Given the description of an element on the screen output the (x, y) to click on. 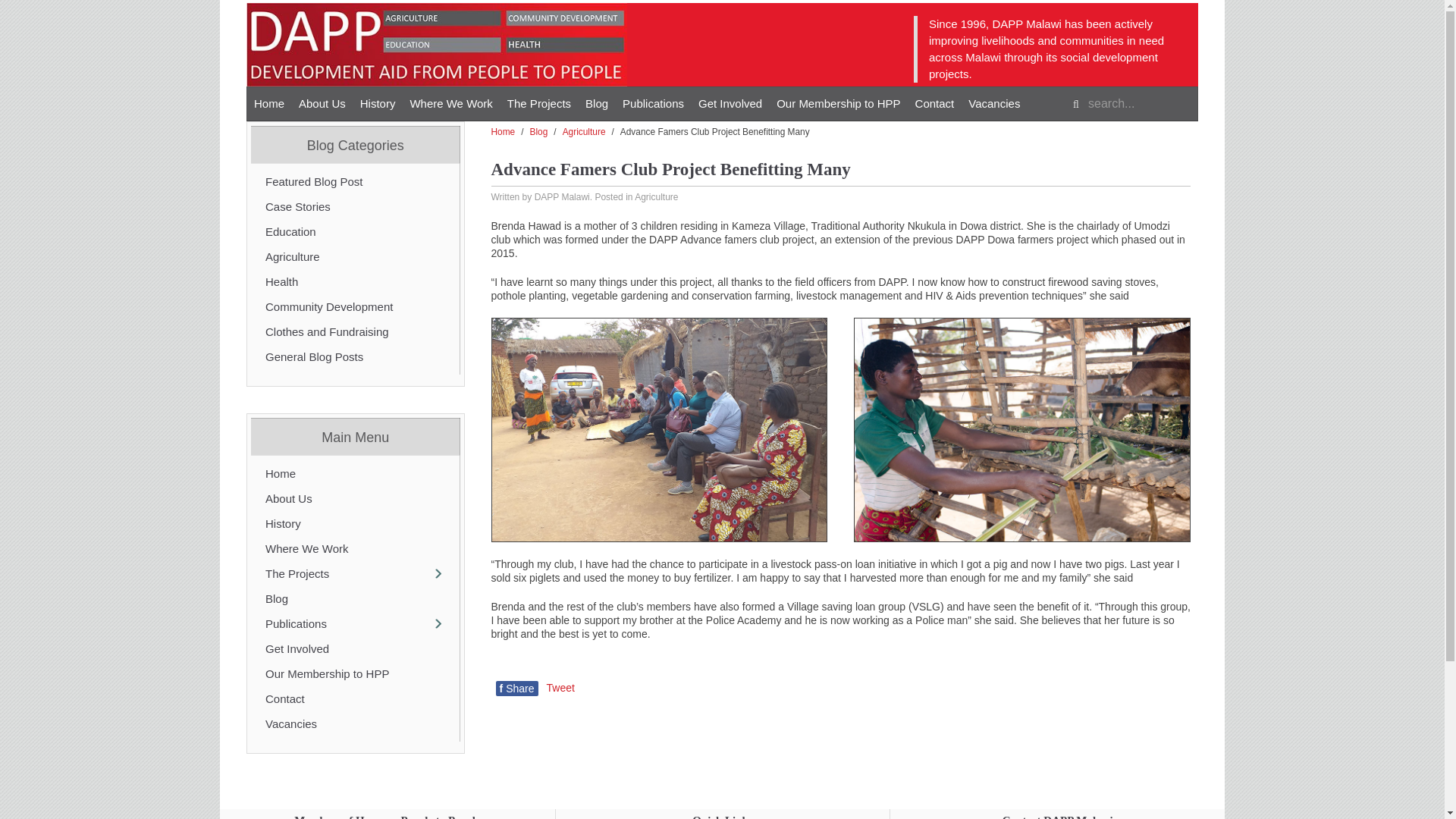
Vacancies (993, 103)
Home (269, 103)
Blog (596, 103)
Get Involved (730, 103)
Where We Work (450, 103)
The Projects (538, 103)
History (377, 103)
About Us (322, 103)
Publications (652, 103)
Our Membership to HPP (837, 103)
Contact (934, 103)
